Given the description of an element on the screen output the (x, y) to click on. 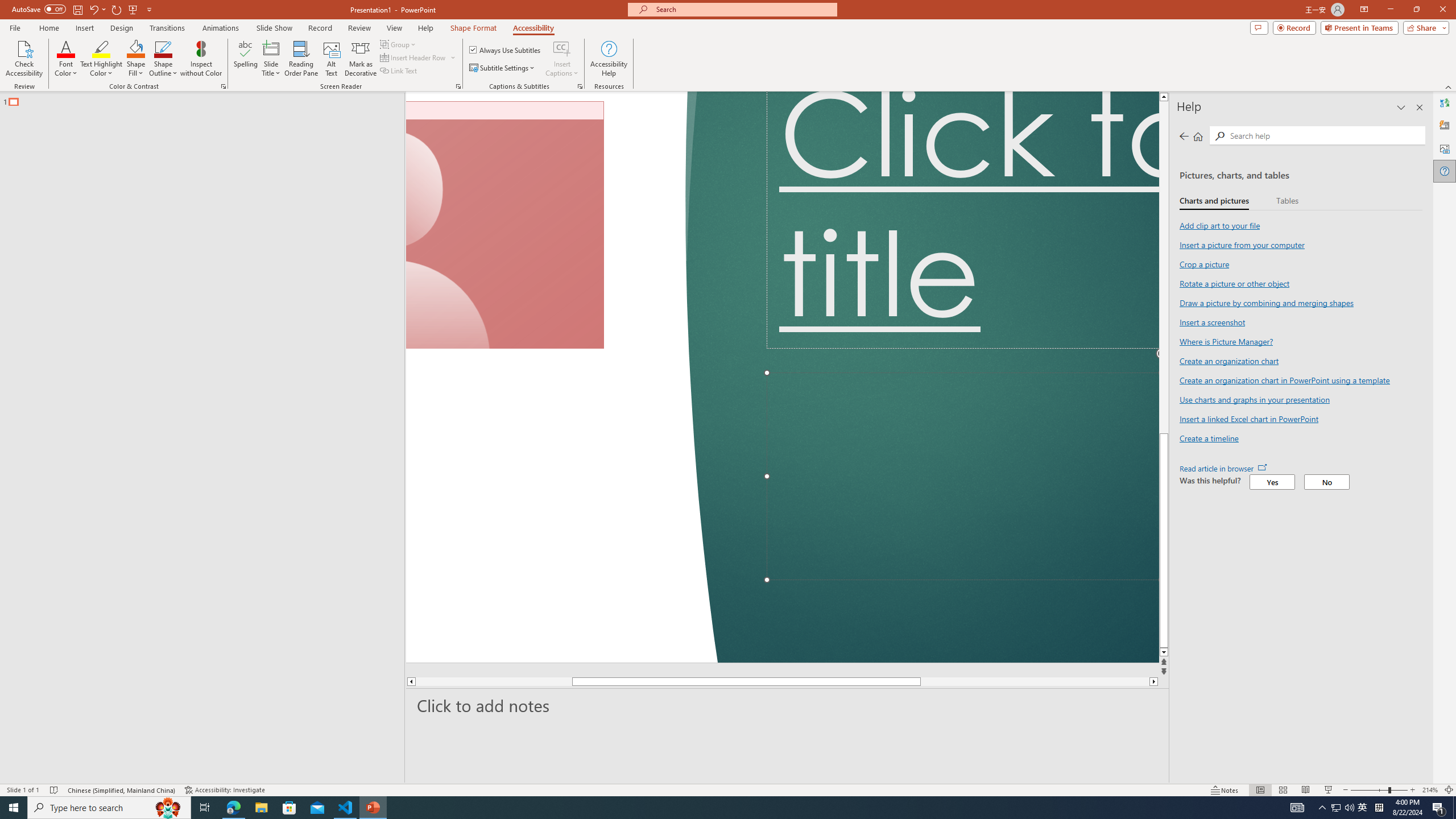
Insert Captions (561, 48)
Where is Picture Manager? (1225, 340)
Color & Contrast (223, 85)
Create an organization chart in PowerPoint using a template (1284, 379)
Camera 7, No camera detected. (505, 224)
Previous page (1183, 136)
